Given the description of an element on the screen output the (x, y) to click on. 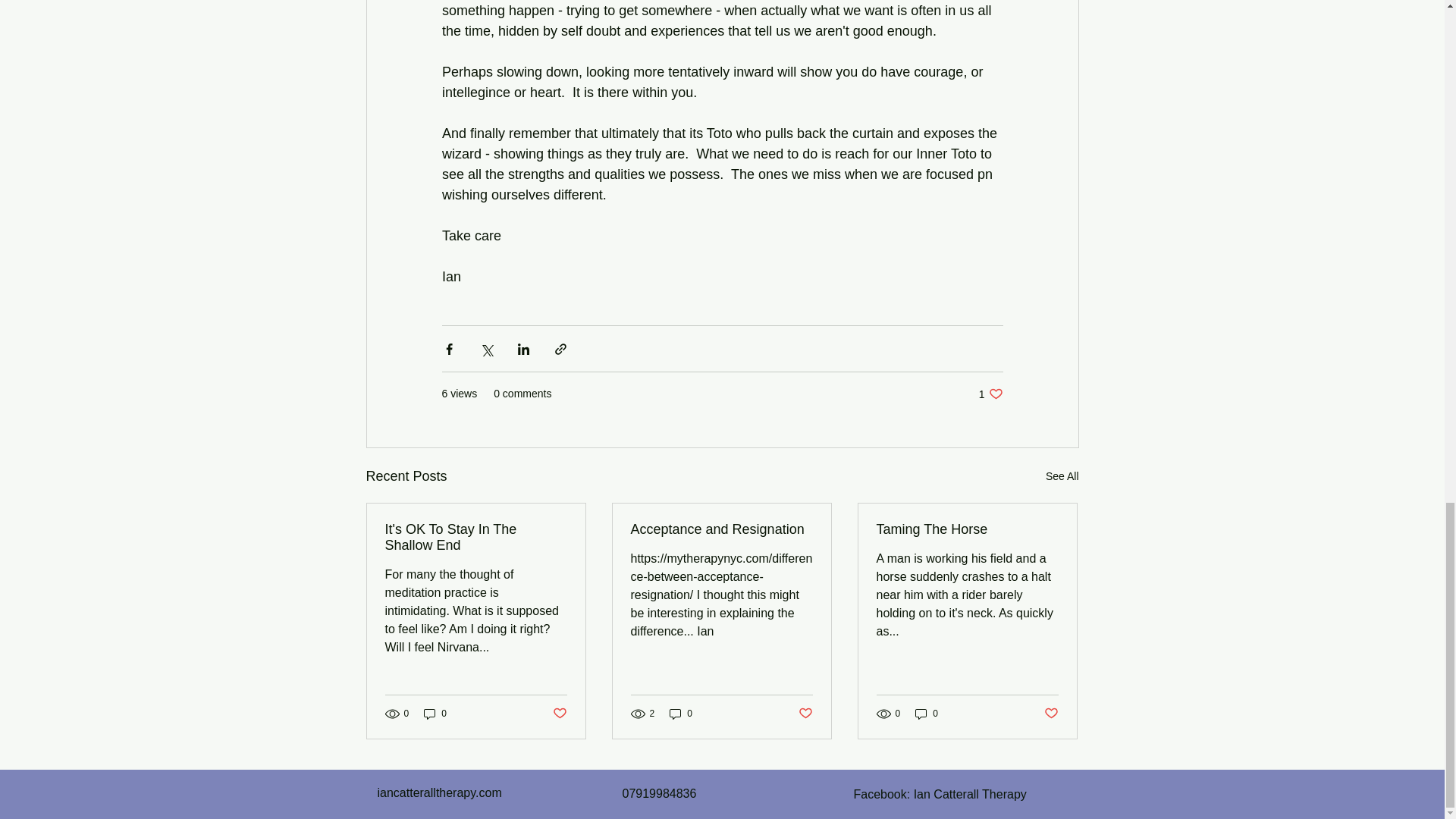
See All (1061, 476)
Post not marked as liked (804, 713)
Acceptance and Resignation (721, 529)
0 (990, 393)
Post not marked as liked (435, 713)
0 (1050, 713)
Post not marked as liked (926, 713)
It's OK To Stay In The Shallow End (558, 713)
0 (476, 537)
